Given the description of an element on the screen output the (x, y) to click on. 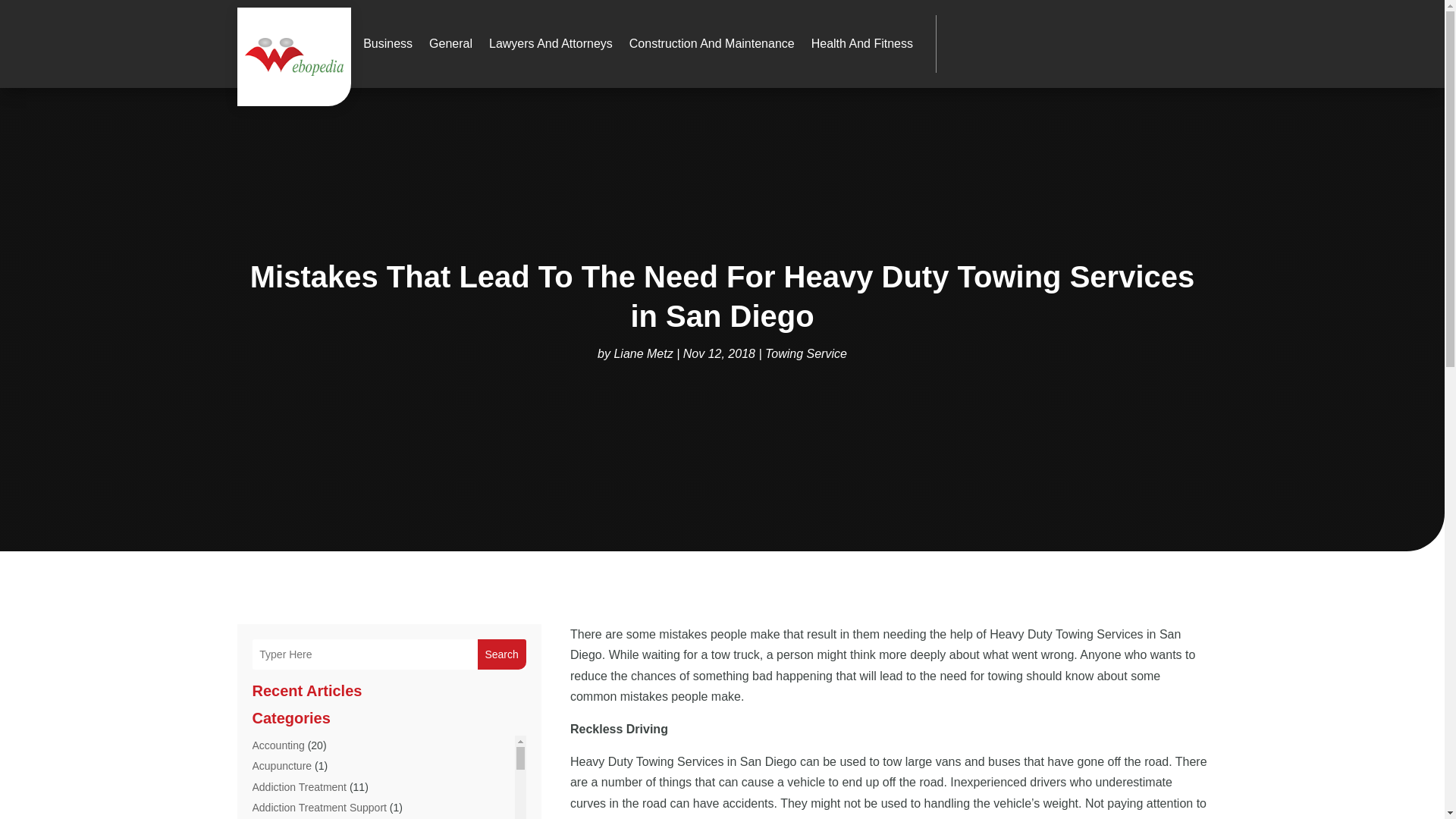
Accounting (277, 745)
Search (501, 654)
Addiction Treatment Support (318, 807)
Health And Fitness (861, 43)
Lawyers And Attorneys (550, 43)
Acupuncture (281, 766)
Posts by Liane Metz (642, 353)
Liane Metz (642, 353)
Addiction Treatment (298, 787)
Construction And Maintenance (711, 43)
